Given the description of an element on the screen output the (x, y) to click on. 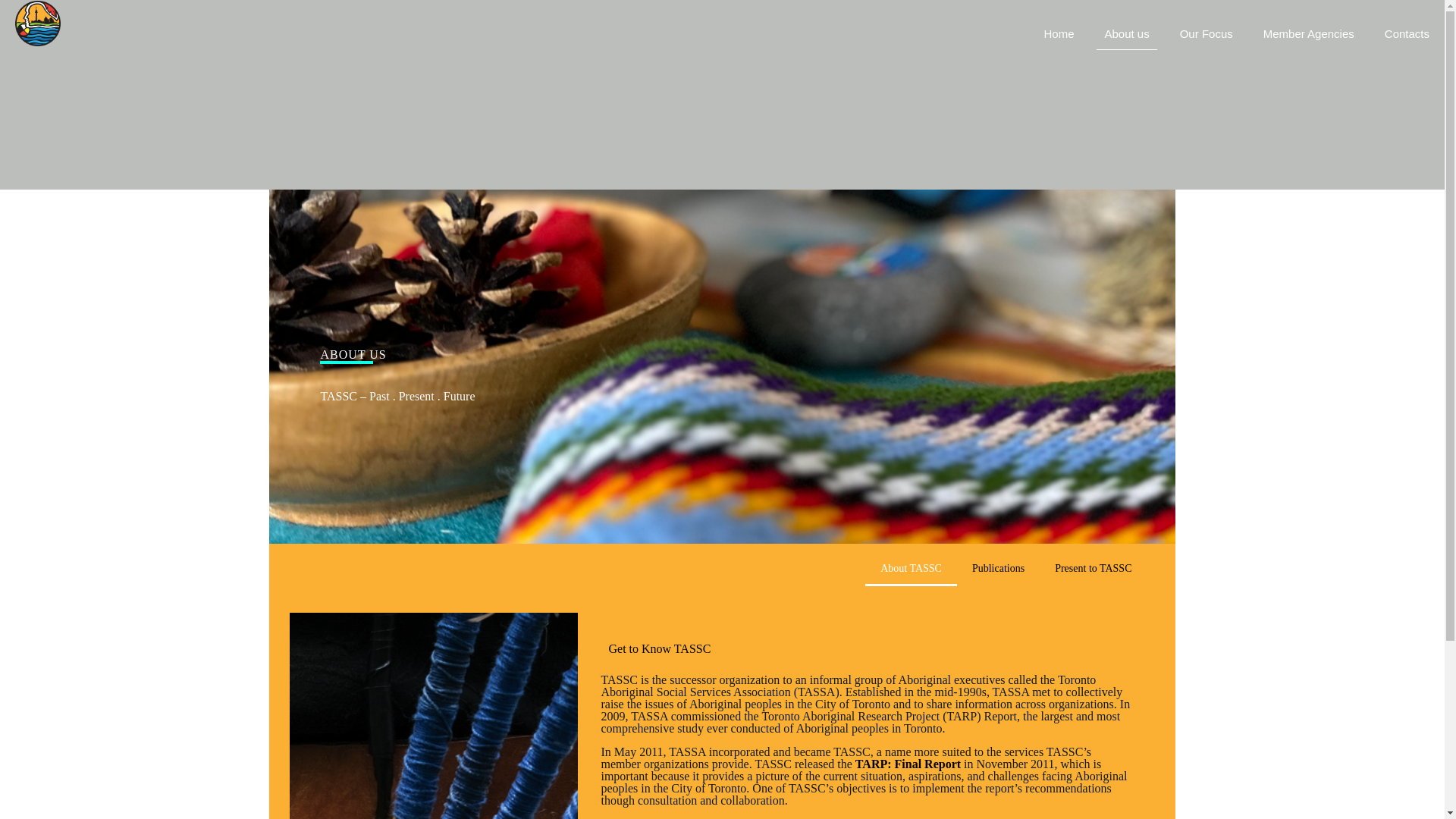
Our Focus (1205, 33)
TARP: Final Report (908, 763)
Publications (997, 568)
About us (1126, 33)
Member Agencies (1308, 33)
Home (1058, 33)
Present to TASSC (1093, 568)
About TASSC (910, 568)
